Given the description of an element on the screen output the (x, y) to click on. 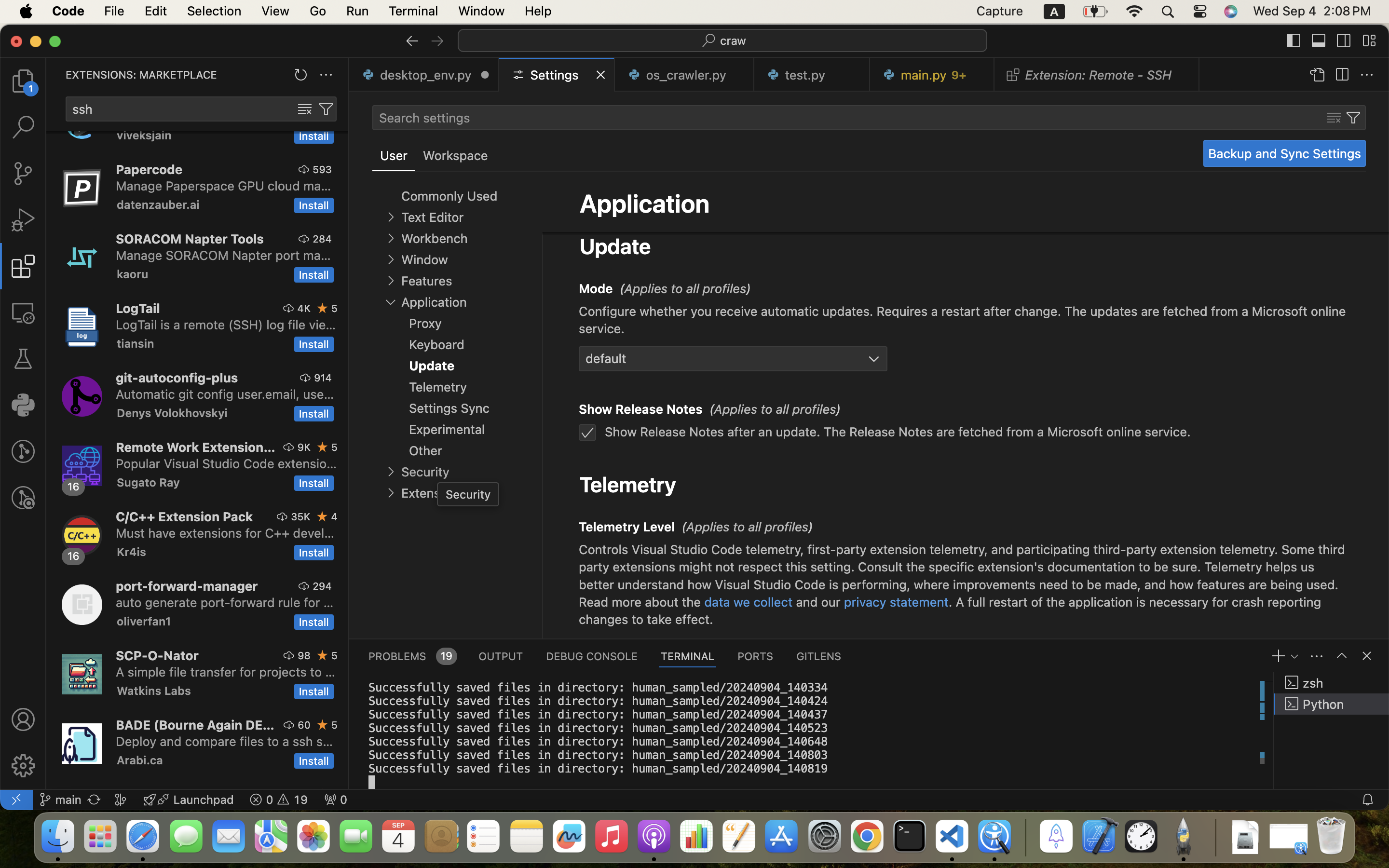
16 Element type: AXStaticText (73, 555)
1 TERMINAL Element type: AXRadioButton (687, 655)
git-autoconfig-plus Element type: AXStaticText (176, 377)
0 Extension: Remote - SSH   Element type: AXRadioButton (1096, 74)
 Element type: AXGroup (23, 765)
